Given the description of an element on the screen output the (x, y) to click on. 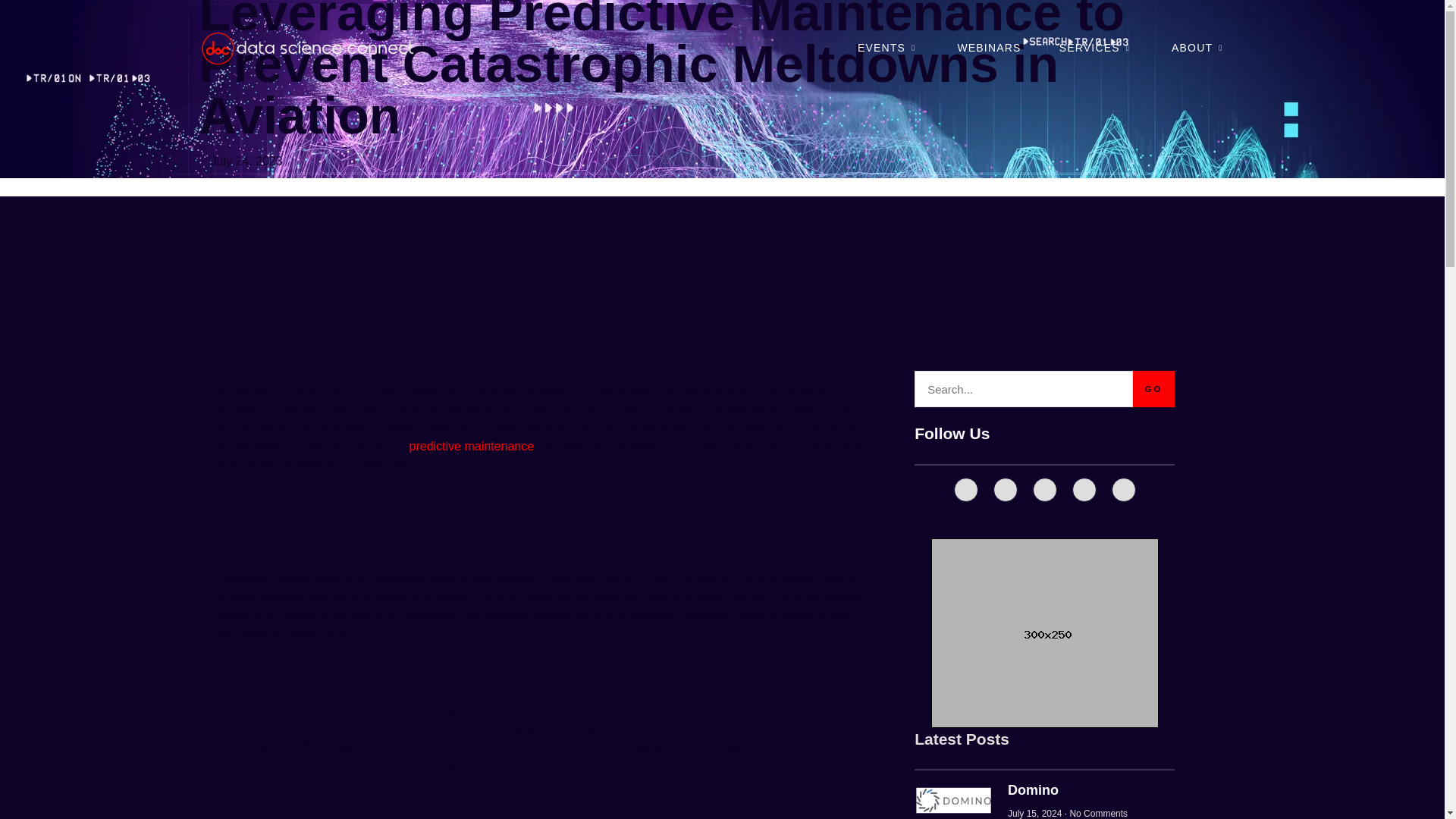
Skip to content (40, 8)
ABOUT (1198, 47)
WEBINARS (988, 47)
SERVICES (1097, 47)
EVENTS (887, 47)
